Given the description of an element on the screen output the (x, y) to click on. 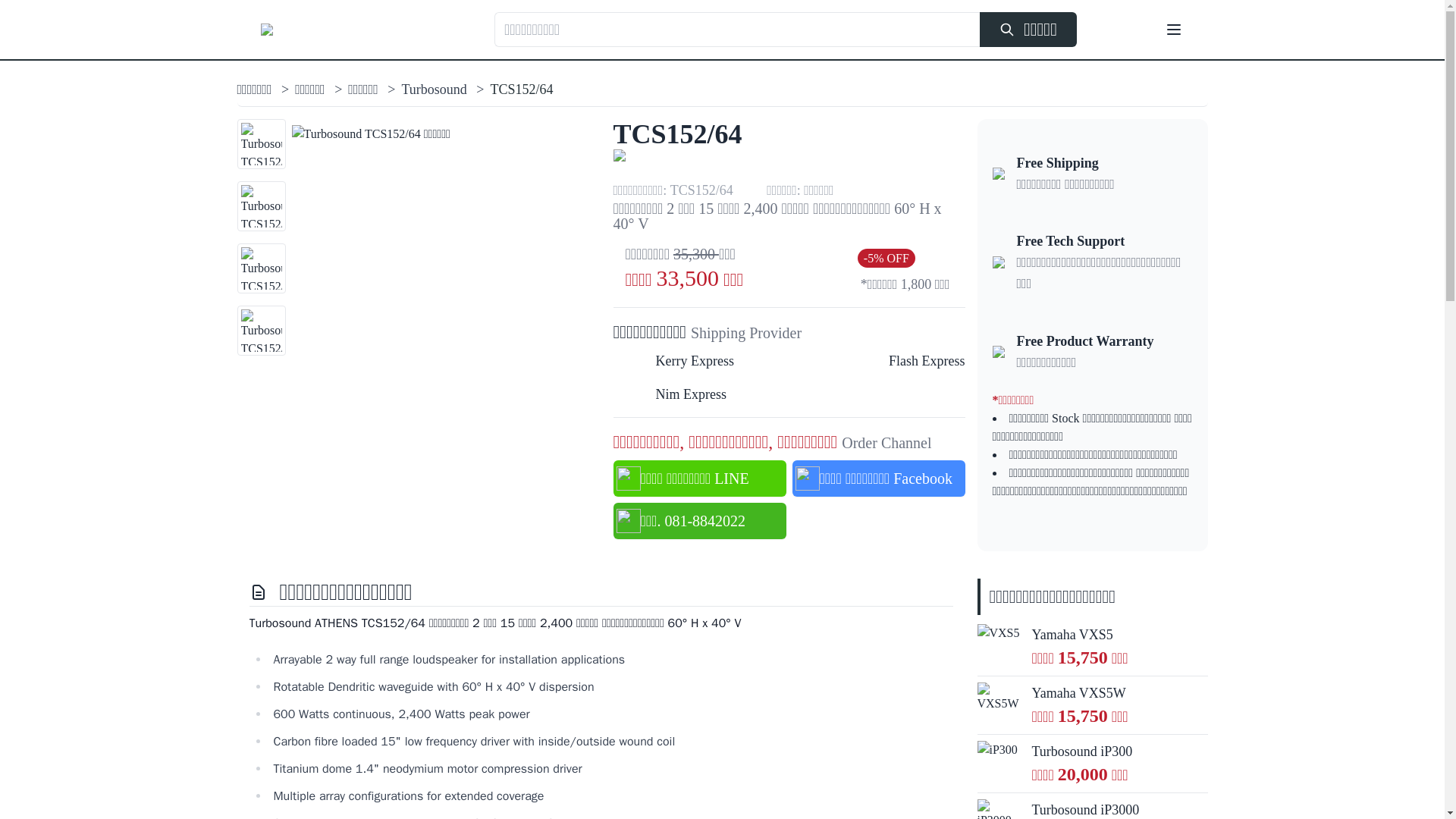
Kerry Express (678, 360)
Flash Express (912, 360)
Nim Express (675, 394)
